Given the description of an element on the screen output the (x, y) to click on. 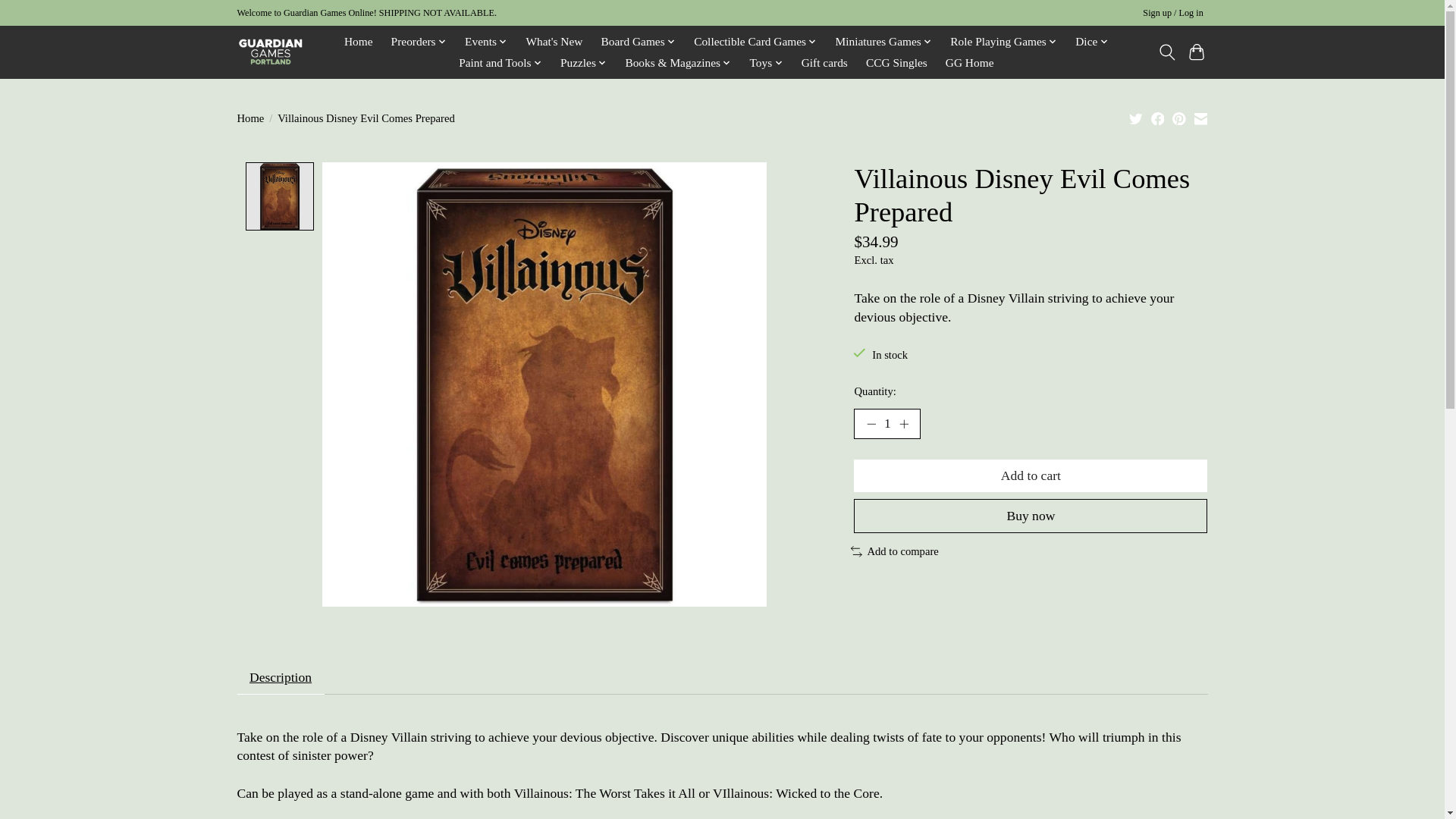
Share by Email (1200, 118)
Events (486, 41)
Home (358, 41)
1 (886, 423)
Preorders (418, 41)
Share on Facebook (1157, 118)
Share on Pinterest (1178, 118)
Board Games (638, 41)
My account (1173, 13)
What's New (553, 41)
Share on Twitter (1135, 118)
